Given the description of an element on the screen output the (x, y) to click on. 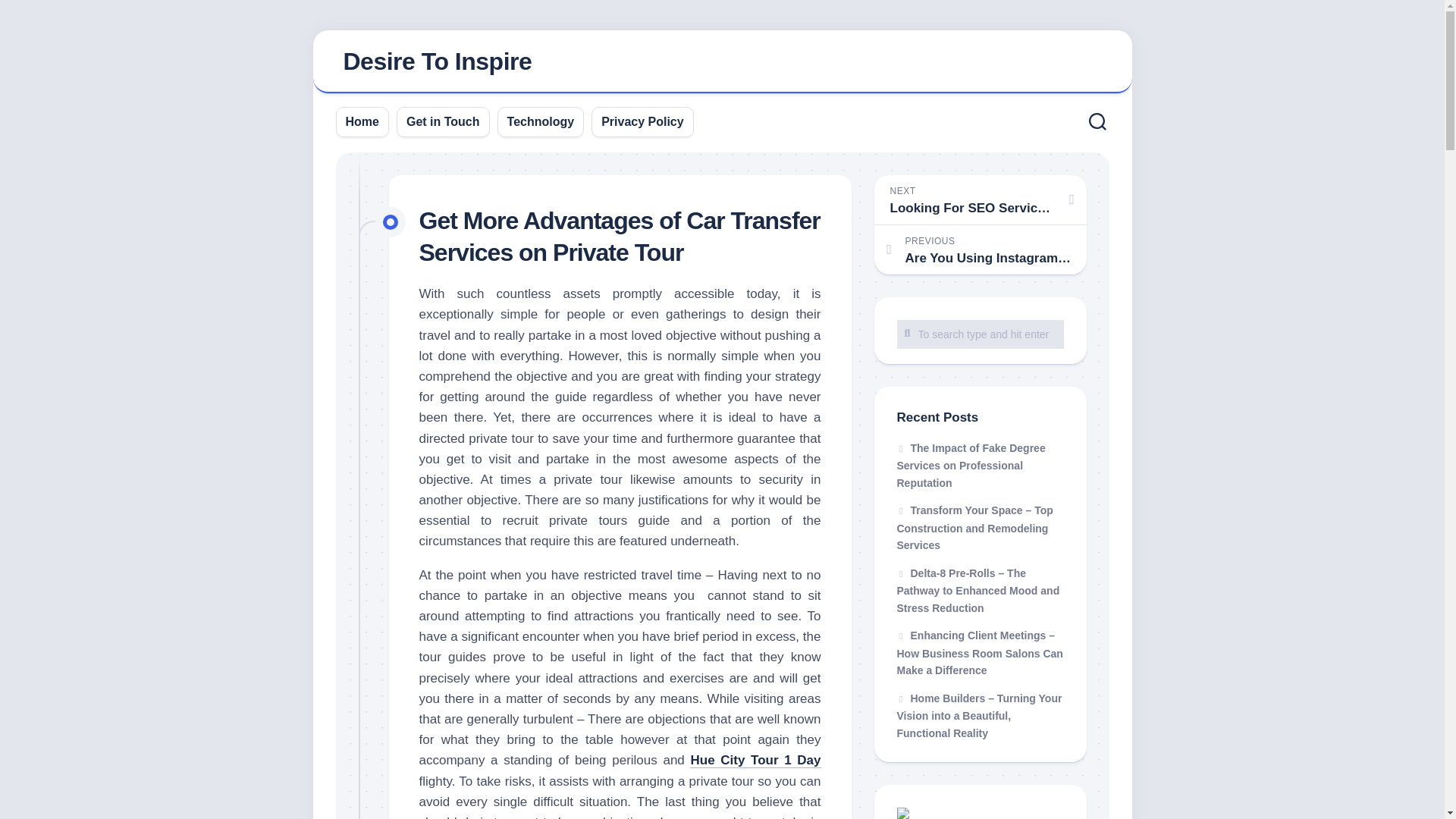
Desire To Inspire (436, 61)
Privacy Policy (642, 121)
Hue City Tour 1 Day (755, 759)
Get in Touch (443, 121)
Home (979, 249)
Technology (362, 121)
Desire To Inspire (540, 121)
